Given the description of an element on the screen output the (x, y) to click on. 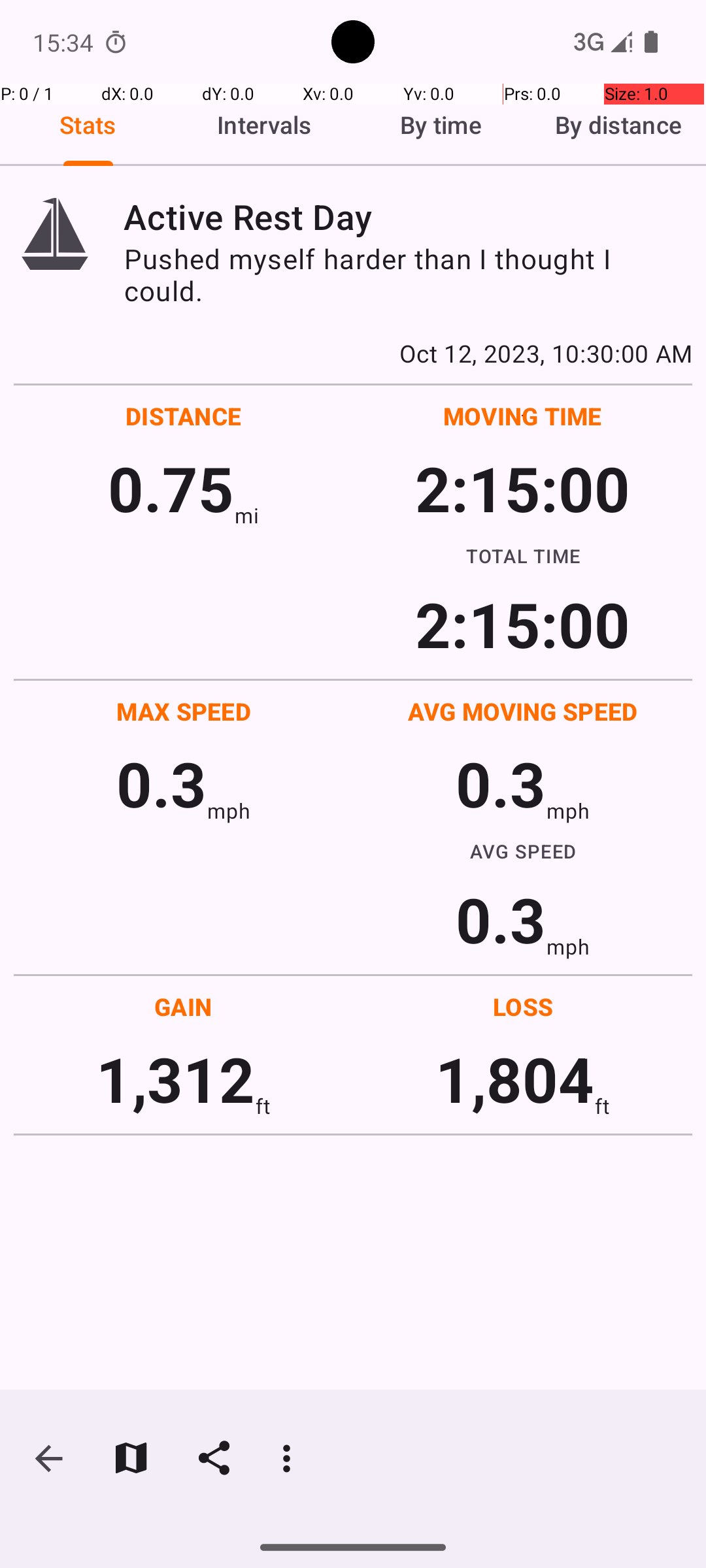
Active Rest Day Element type: android.widget.TextView (407, 216)
Pushed myself harder than I thought I could. Element type: android.widget.TextView (407, 274)
Oct 12, 2023, 10:30:00 AM Element type: android.widget.TextView (352, 352)
0.75 Element type: android.widget.TextView (170, 487)
2:15:00 Element type: android.widget.TextView (522, 487)
0.3 Element type: android.widget.TextView (161, 782)
1,312 Element type: android.widget.TextView (175, 1077)
1,804 Element type: android.widget.TextView (514, 1077)
